Given the description of an element on the screen output the (x, y) to click on. 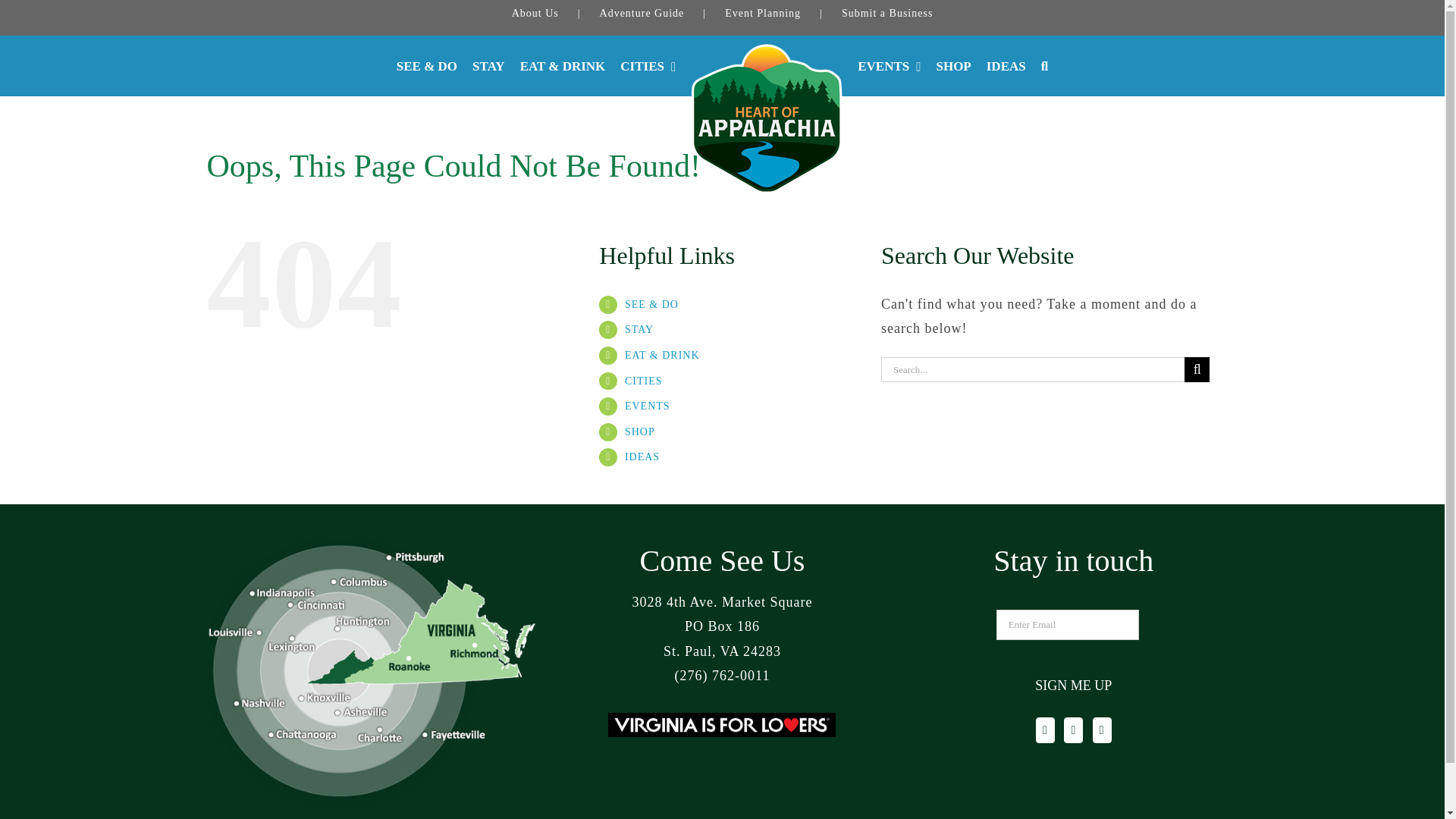
SHOP (953, 66)
Submit a Business (887, 13)
About Us (555, 13)
IDEAS (1006, 66)
STAY (488, 66)
CITIES (647, 66)
EVENTS (888, 66)
Sign Me Up (1073, 685)
Search (1044, 66)
Adventure Guide (662, 13)
Event Planning (783, 13)
